Given the description of an element on the screen output the (x, y) to click on. 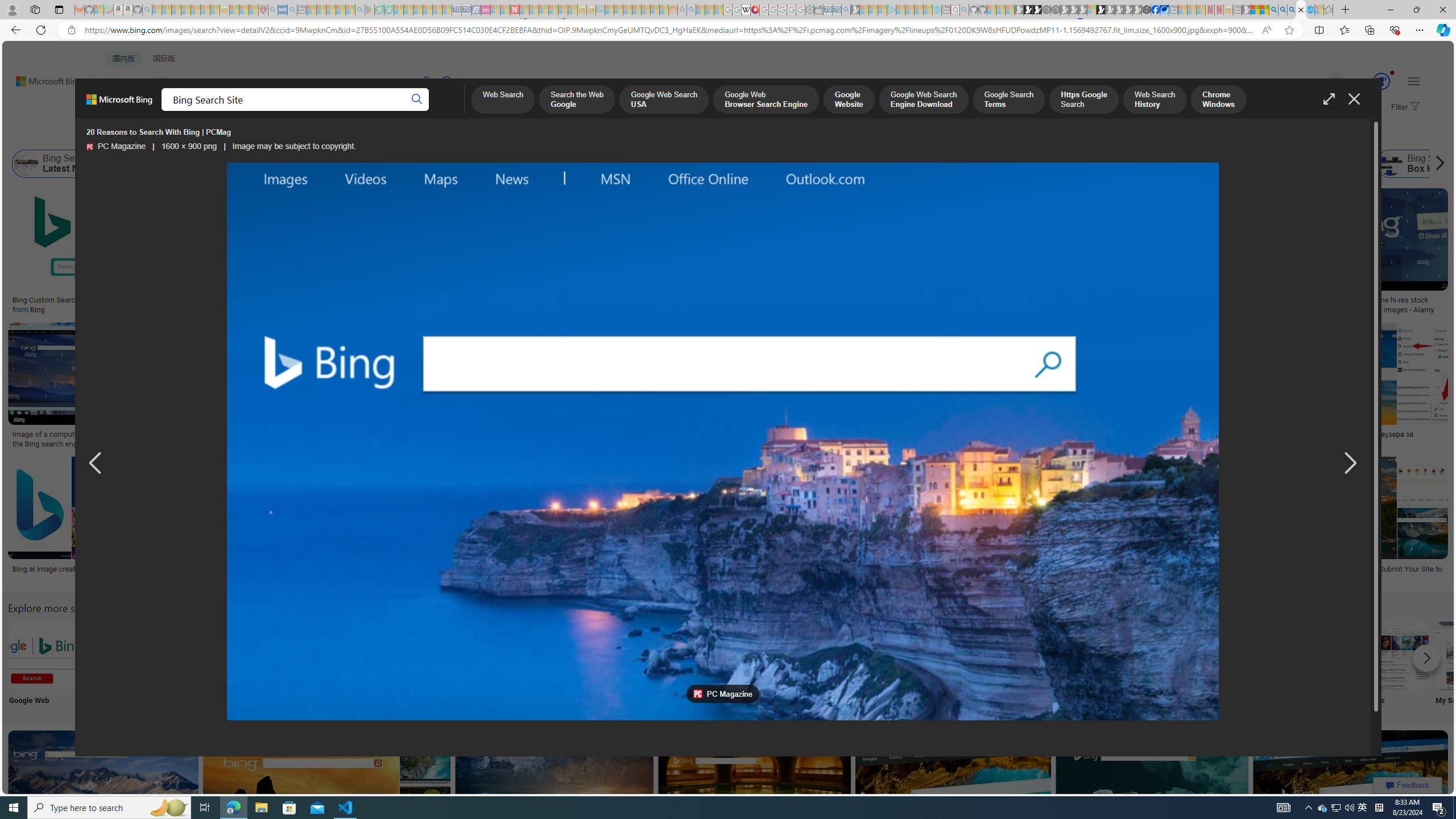
Mugs (802, 296)
Google Web Search Bing (42, 654)
FIX: Downloading proxy script message on Google ChromeSave (529, 521)
Random (794, 665)
Animation (1392, 72)
MY BING (156, 111)
Top 10 Search engine | REALITYPOD - Part 3 (925, 434)
Bing Search App Logo (118, 654)
